Given the description of an element on the screen output the (x, y) to click on. 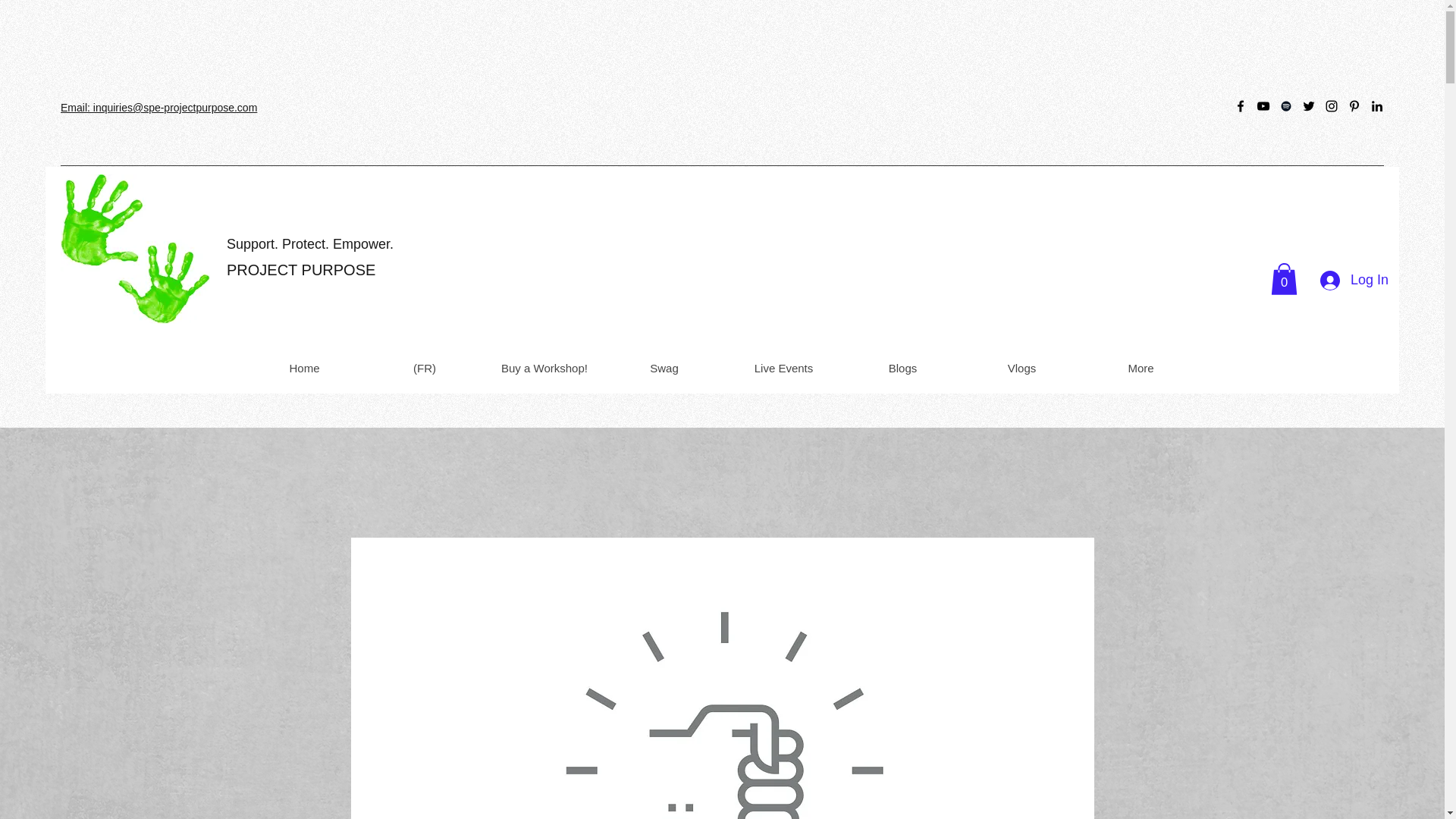
Vlogs (1020, 367)
Log In (1353, 280)
Swag (663, 367)
Live Events (783, 367)
Blogs (902, 367)
Buy a Workshop! (543, 367)
Home (304, 367)
